Given the description of an element on the screen output the (x, y) to click on. 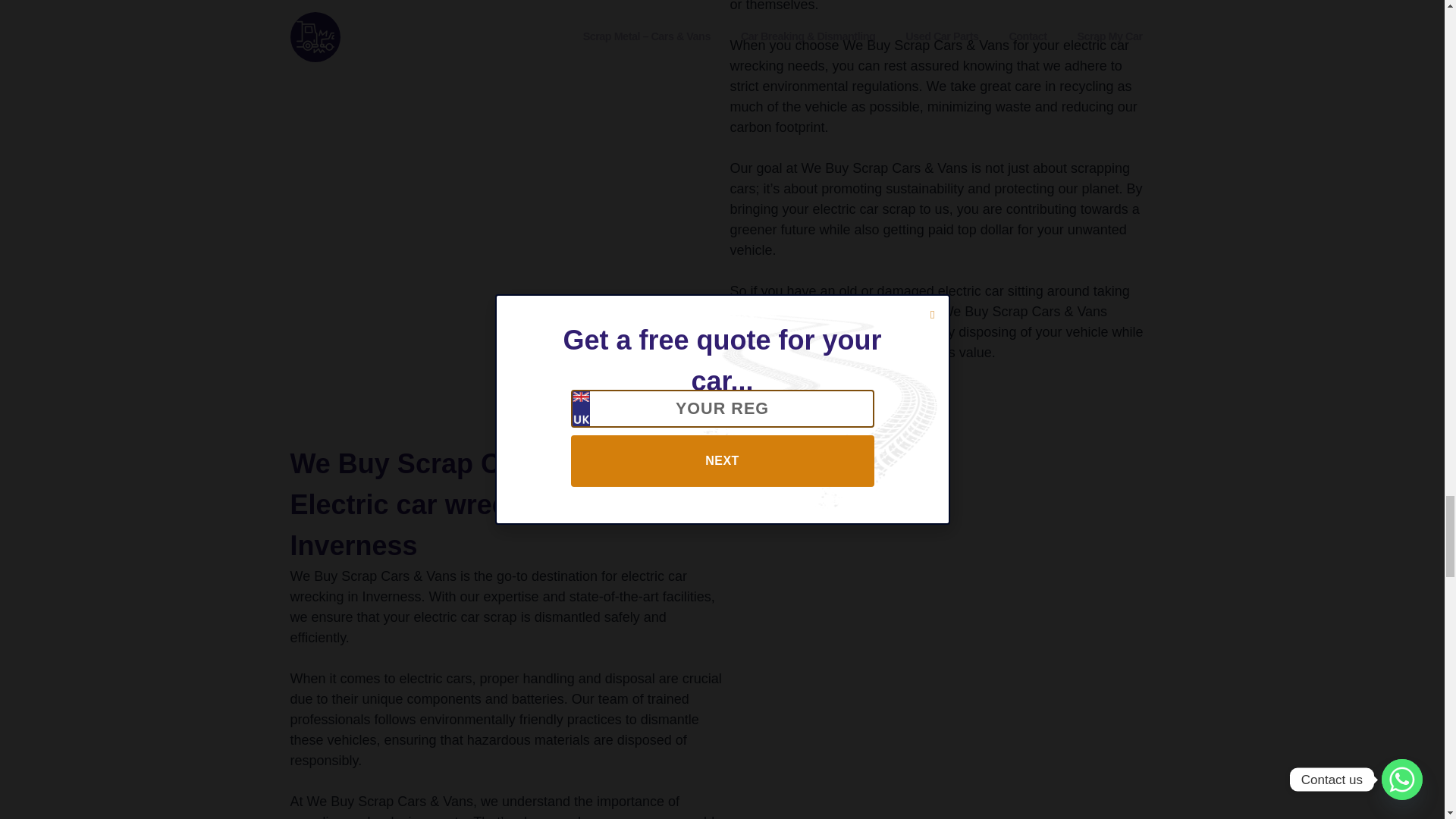
Inverness (962, 755)
